Given the description of an element on the screen output the (x, y) to click on. 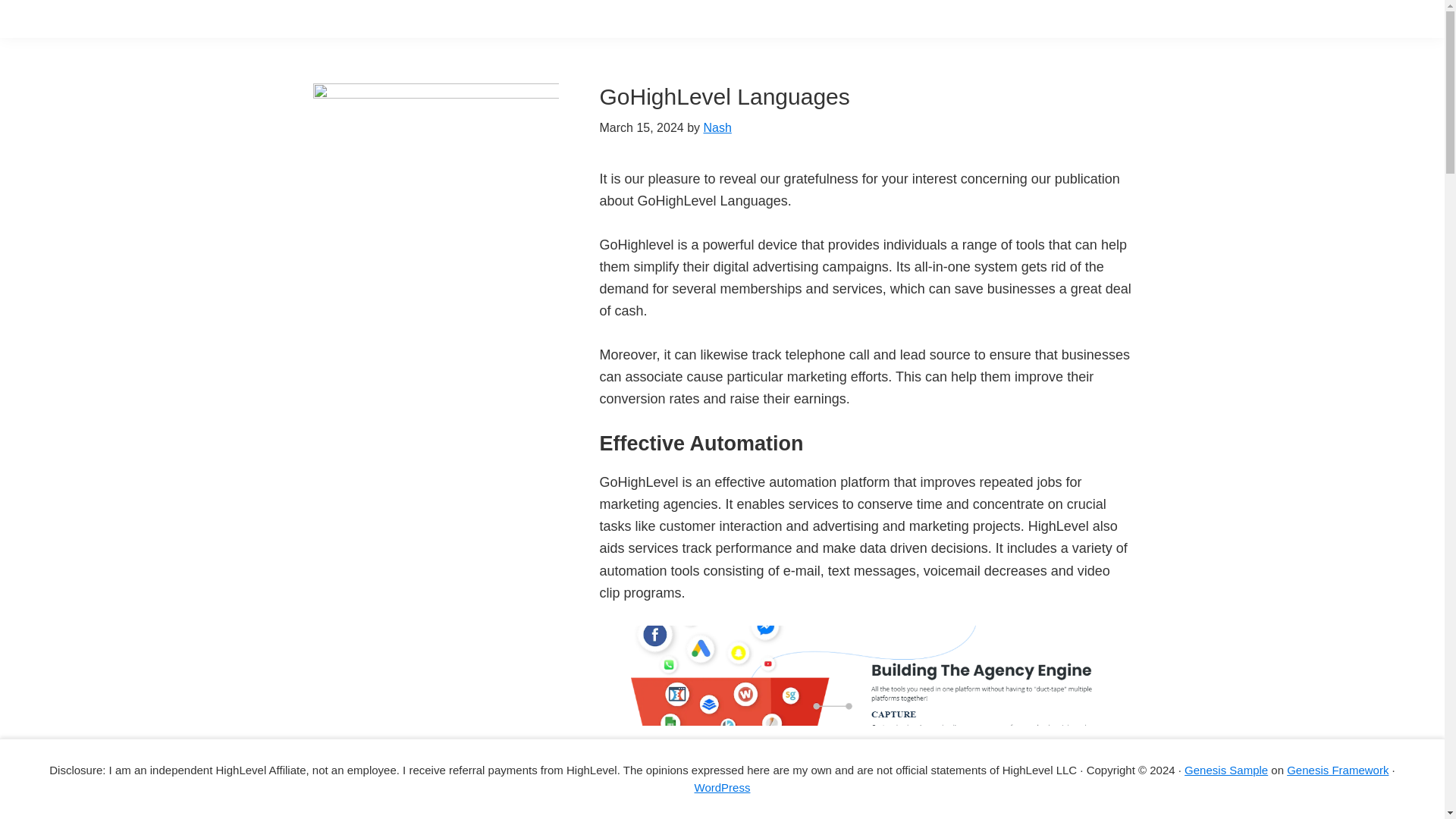
Genesis Framework (1338, 769)
Nash (716, 127)
WordPress (722, 787)
Genesis Sample (1226, 769)
